Given the description of an element on the screen output the (x, y) to click on. 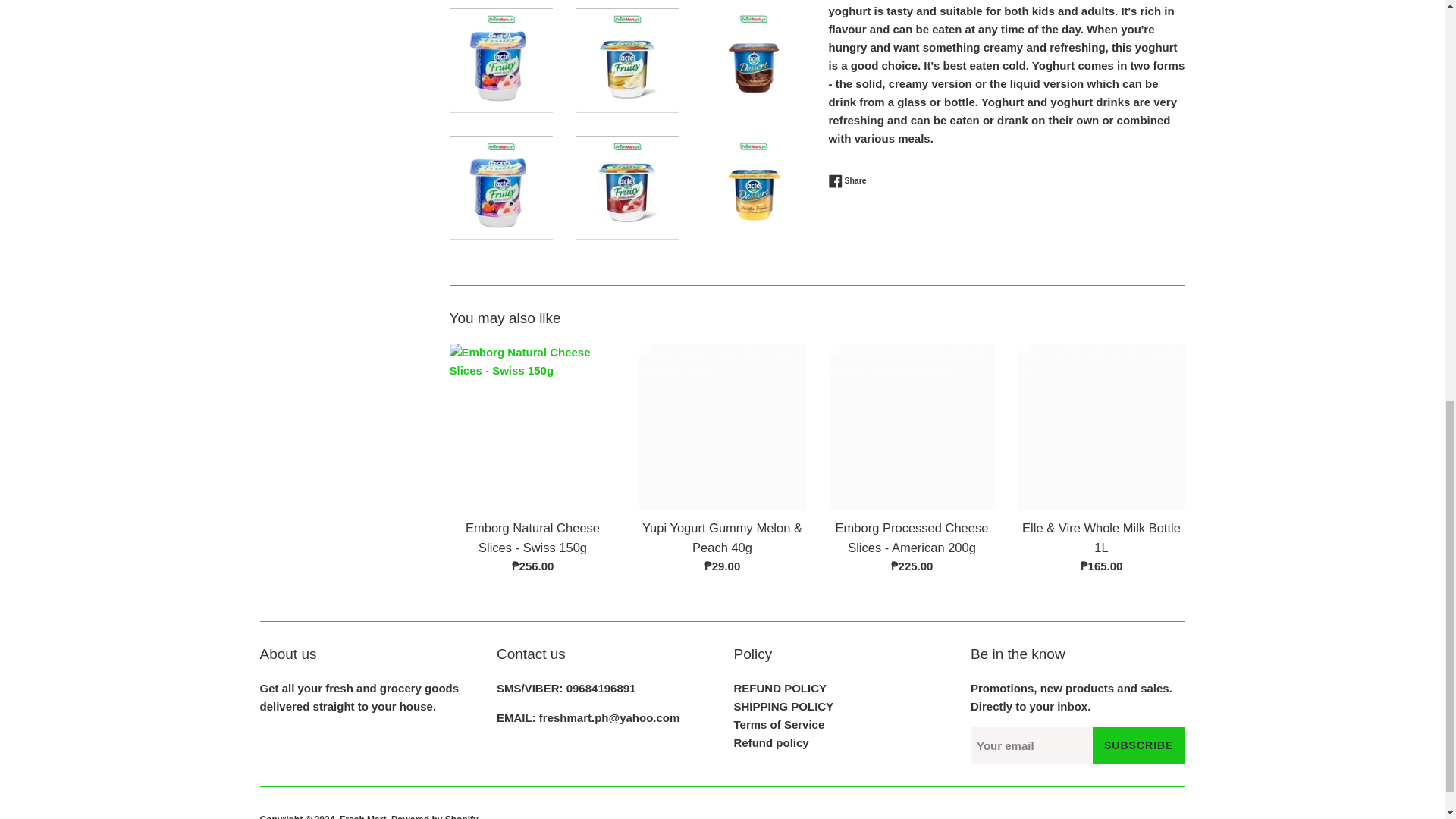
Emborg Processed Cheese Slices - American 200g (911, 426)
Emborg Natural Cheese Slices - Swiss 150g (531, 426)
Share on Facebook (847, 181)
